Given the description of an element on the screen output the (x, y) to click on. 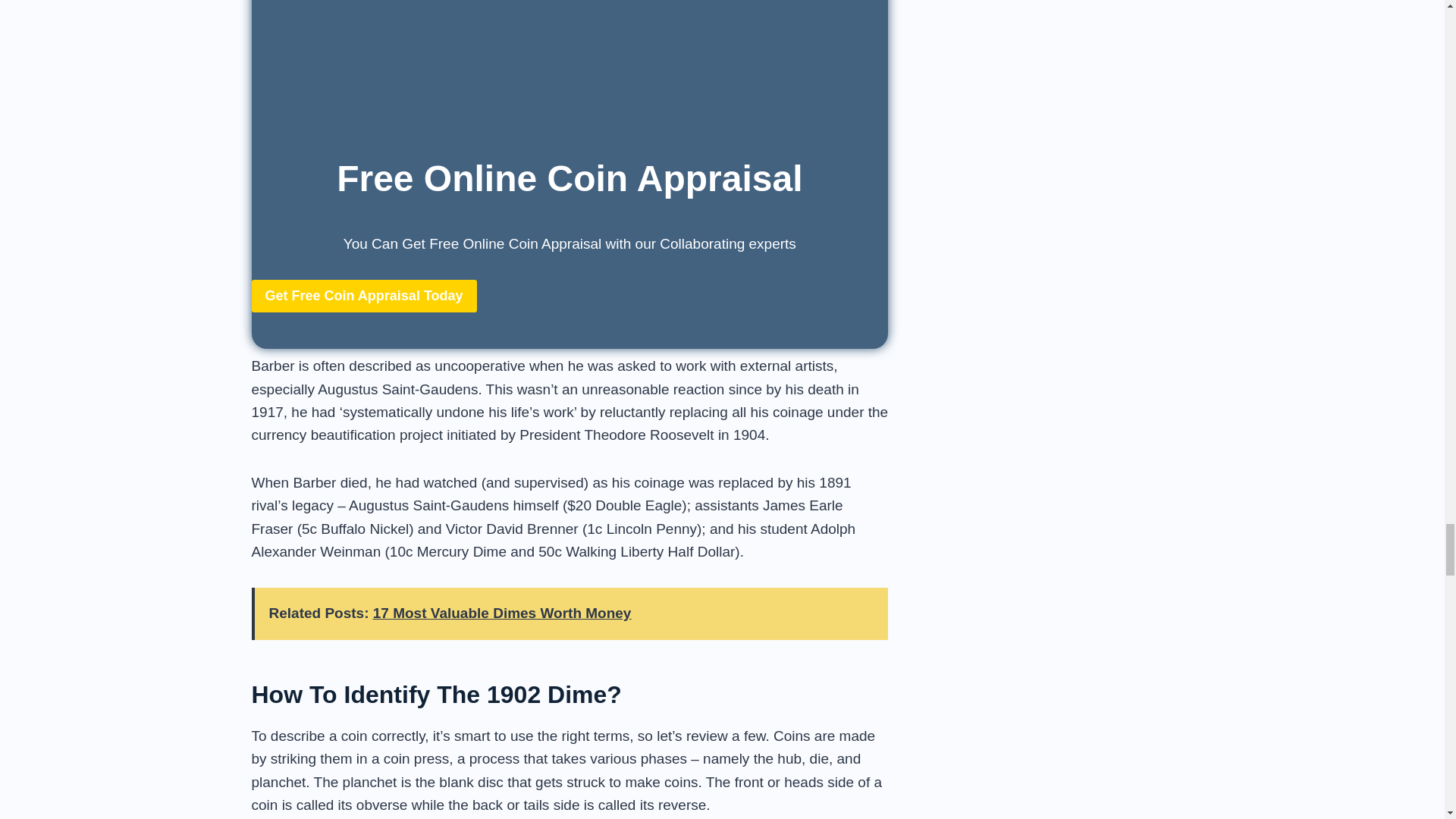
17 Most Valuable Dimes Worth Money (501, 612)
Get Free Coin Appraisal Today (364, 296)
